Given the description of an element on the screen output the (x, y) to click on. 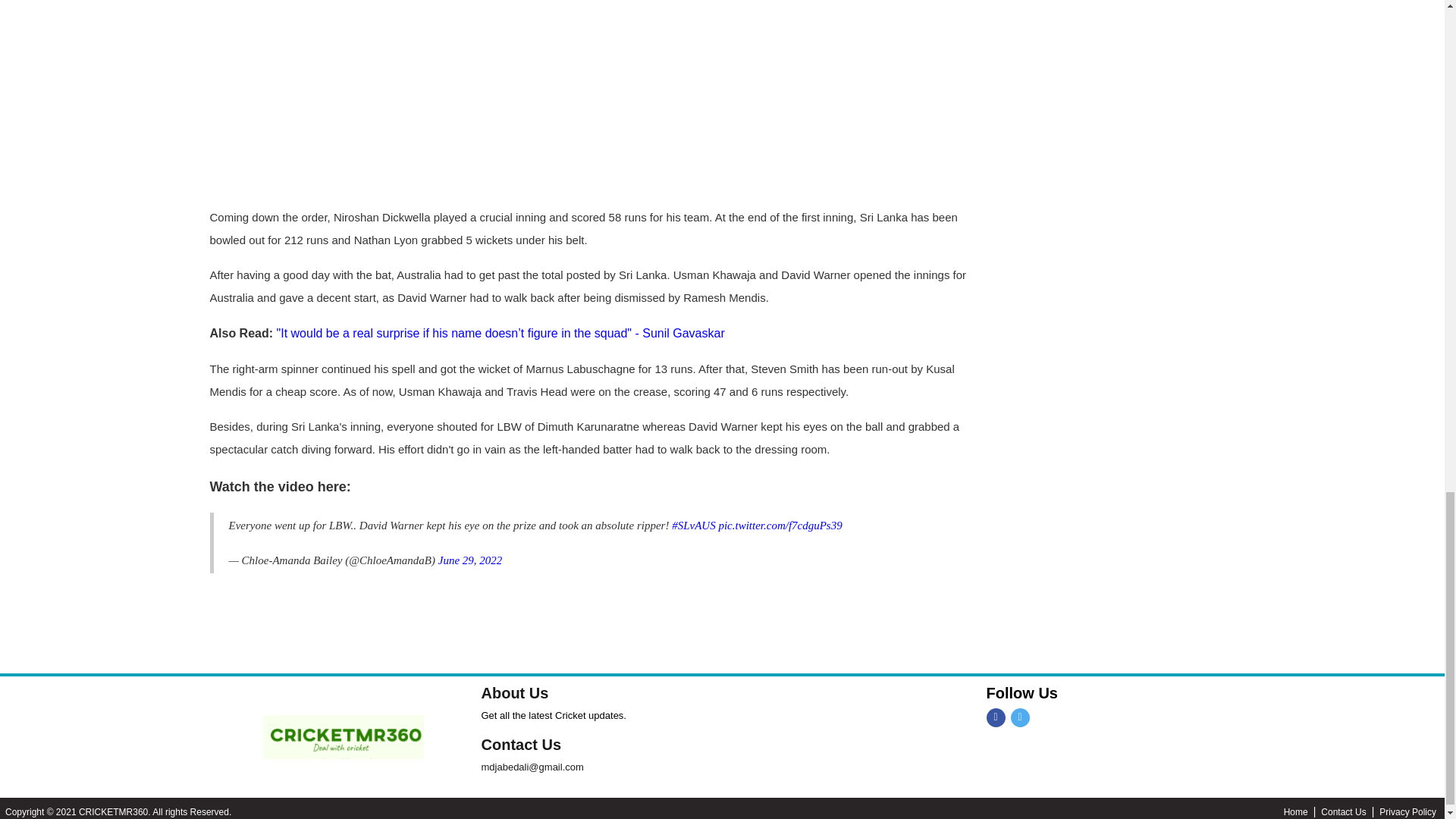
Twitter (1019, 717)
About Us (514, 692)
June 29, 2022 (470, 560)
Facebook (994, 717)
Contact Us (520, 744)
